Given the description of an element on the screen output the (x, y) to click on. 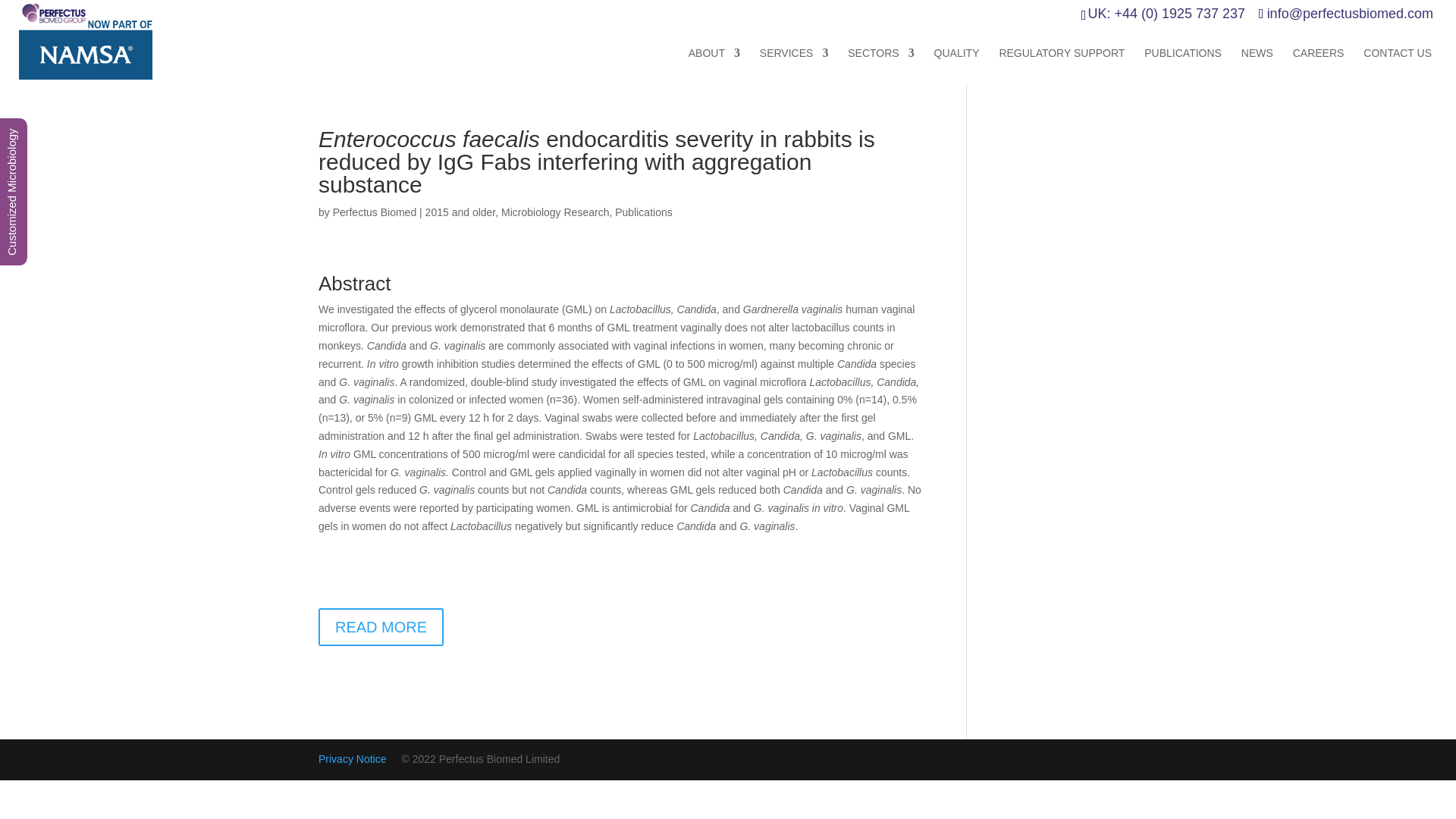
Publications (643, 212)
NEWS (1256, 65)
QUALITY (956, 65)
CONTACT US (1396, 65)
CAREERS (1317, 65)
Posts by Perfectus Biomed (374, 212)
SECTORS (880, 65)
SERVICES (794, 65)
Customized Microbiology (72, 132)
Privacy Notice (351, 758)
Perfectus Biomed (374, 212)
ABOUT (713, 65)
READ MORE (381, 627)
2015 and older (460, 212)
REGULATORY SUPPORT (1061, 65)
